Given the description of an element on the screen output the (x, y) to click on. 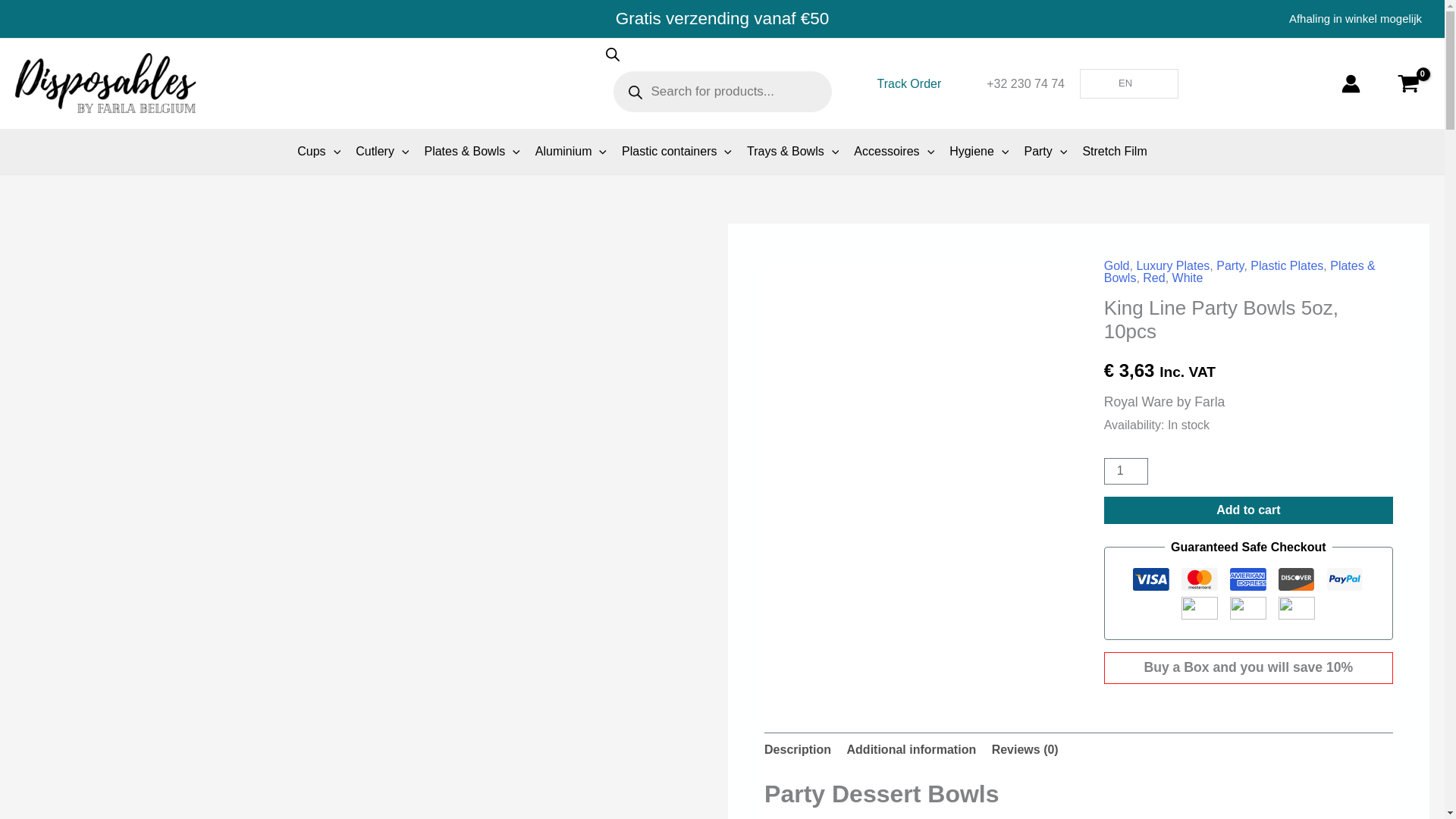
Cutlery (381, 151)
Track Order (908, 83)
1 (1125, 470)
Cups (318, 151)
Plastic containers (676, 151)
Aluminium (570, 151)
